Given the description of an element on the screen output the (x, y) to click on. 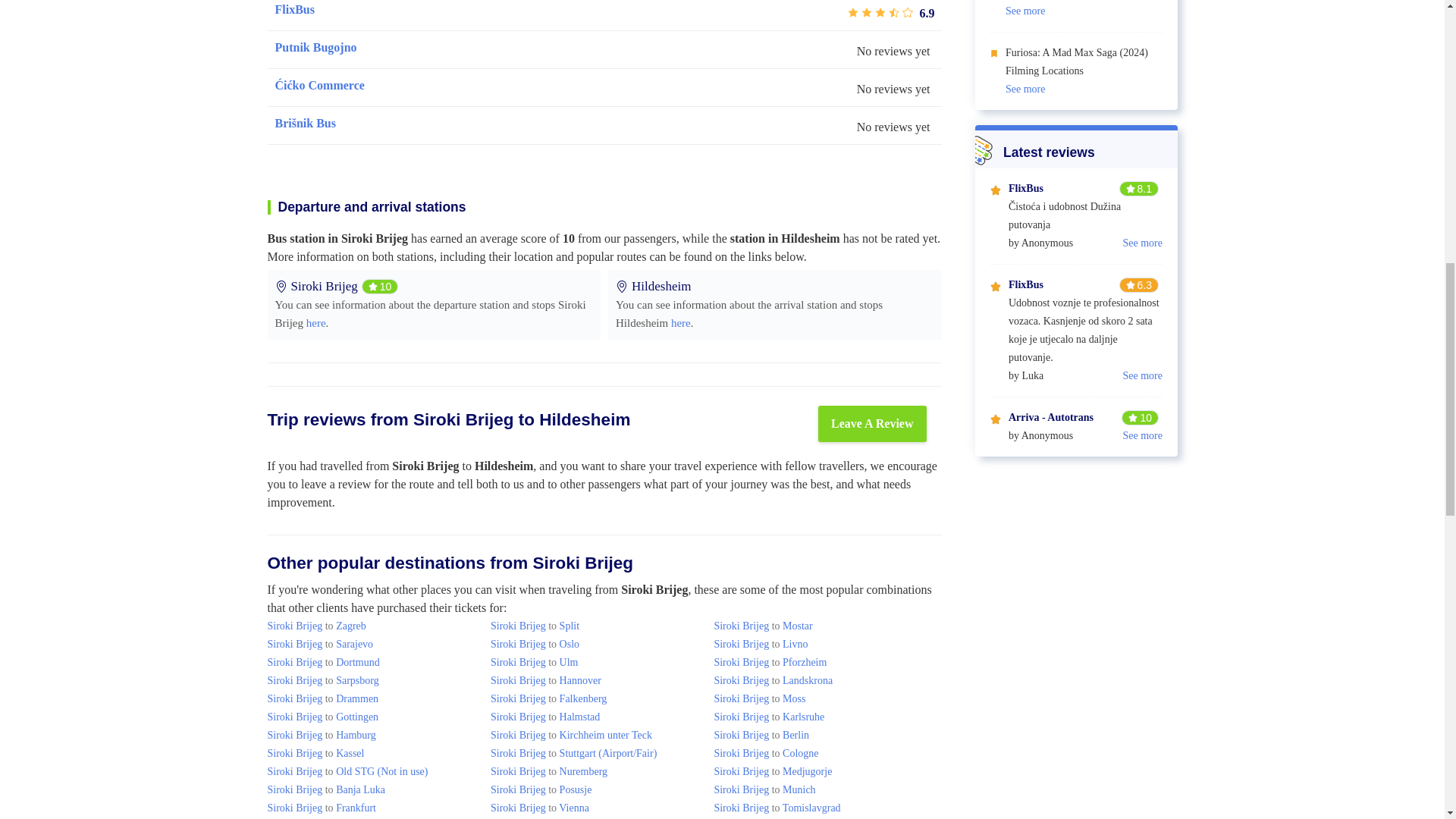
Siroki Brijeg to Zagreb (315, 625)
Siroki Brijeg to Livno (760, 644)
Siroki Brijeg to Sarajevo (319, 644)
Siroki Brijeg to Hannover (545, 680)
Putnik Bugojno (315, 47)
FlixBus (294, 9)
Siroki Brijeg to Split (534, 625)
here (680, 322)
Siroki Brijeg to Mostar (762, 625)
here (315, 322)
Siroki Brijeg to Pforzheim (770, 662)
Siroki Brijeg to Sarpsborg (322, 680)
Siroki Brijeg to Oslo (534, 644)
Leave A Review (872, 423)
Siroki Brijeg to Ulm (534, 662)
